Given the description of an element on the screen output the (x, y) to click on. 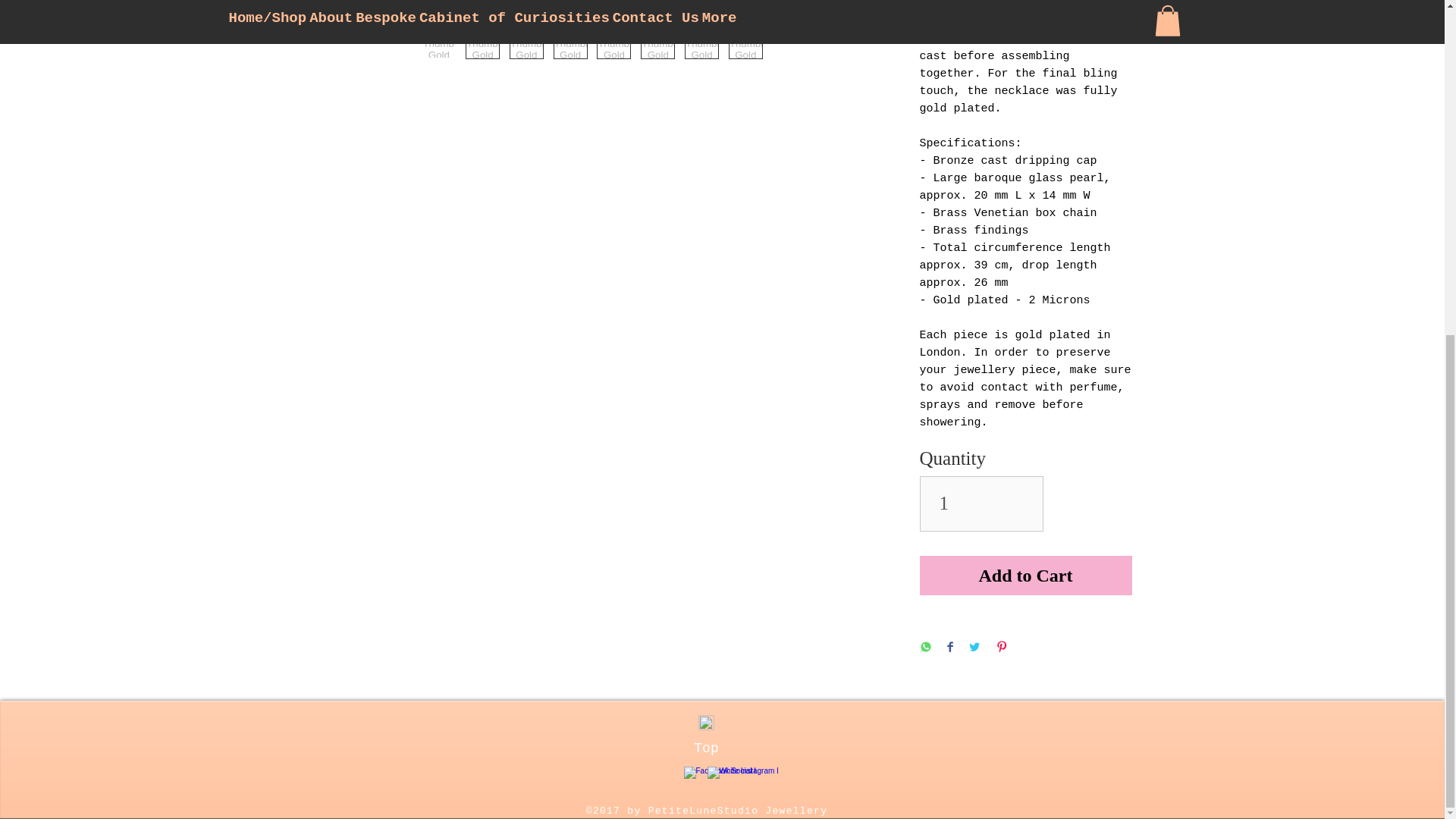
Add to Cart (1024, 575)
1 (980, 503)
Top (706, 748)
